Given the description of an element on the screen output the (x, y) to click on. 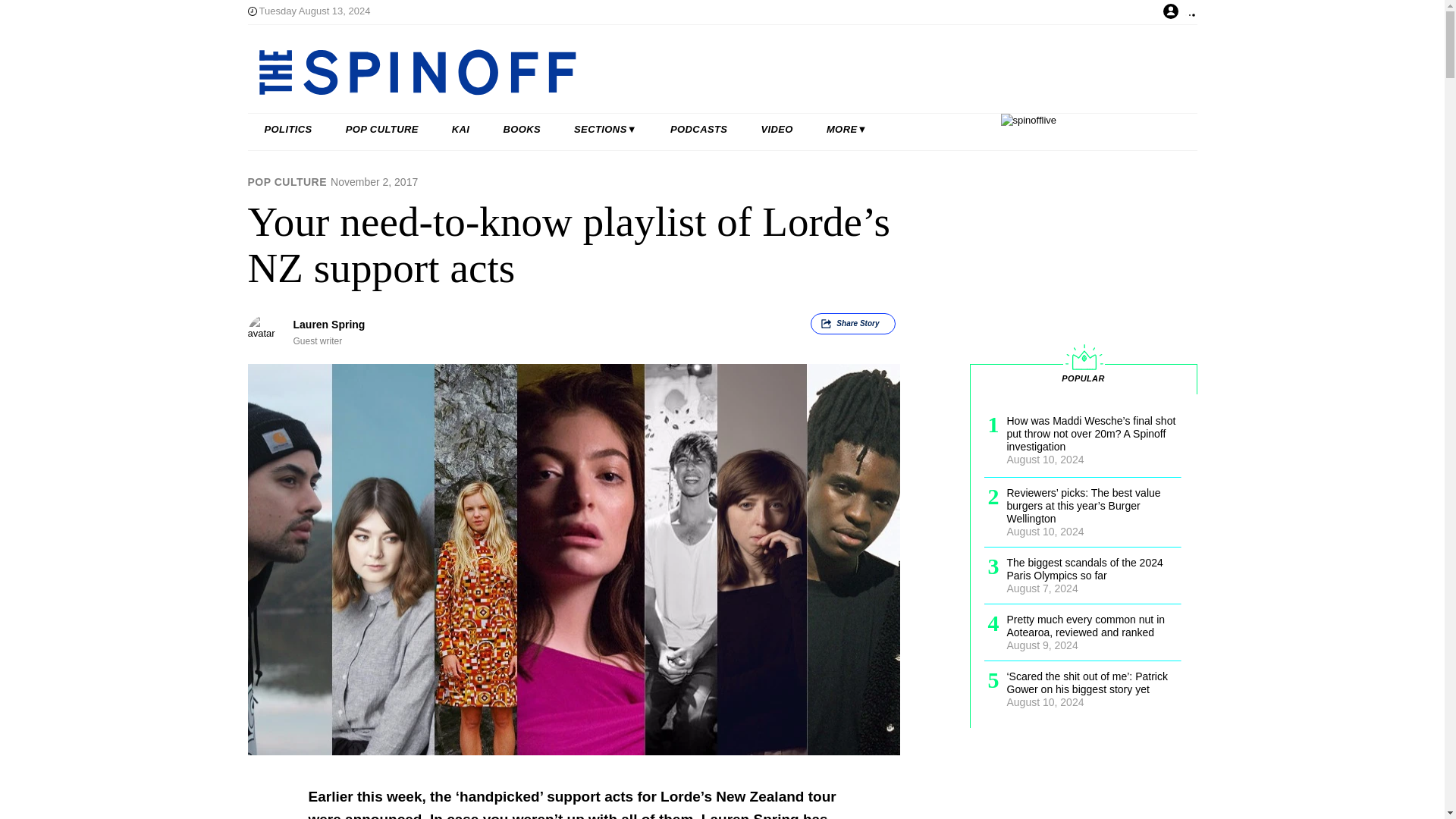
SECTIONS (605, 129)
view all posts by Lauren Spring (328, 324)
KAI (460, 129)
The Spinoff (673, 72)
VIDEO (776, 129)
POLITICS (288, 129)
POP CULTURE (382, 129)
PODCASTS (698, 129)
MORE (846, 129)
BOOKS (521, 129)
